Given the description of an element on the screen output the (x, y) to click on. 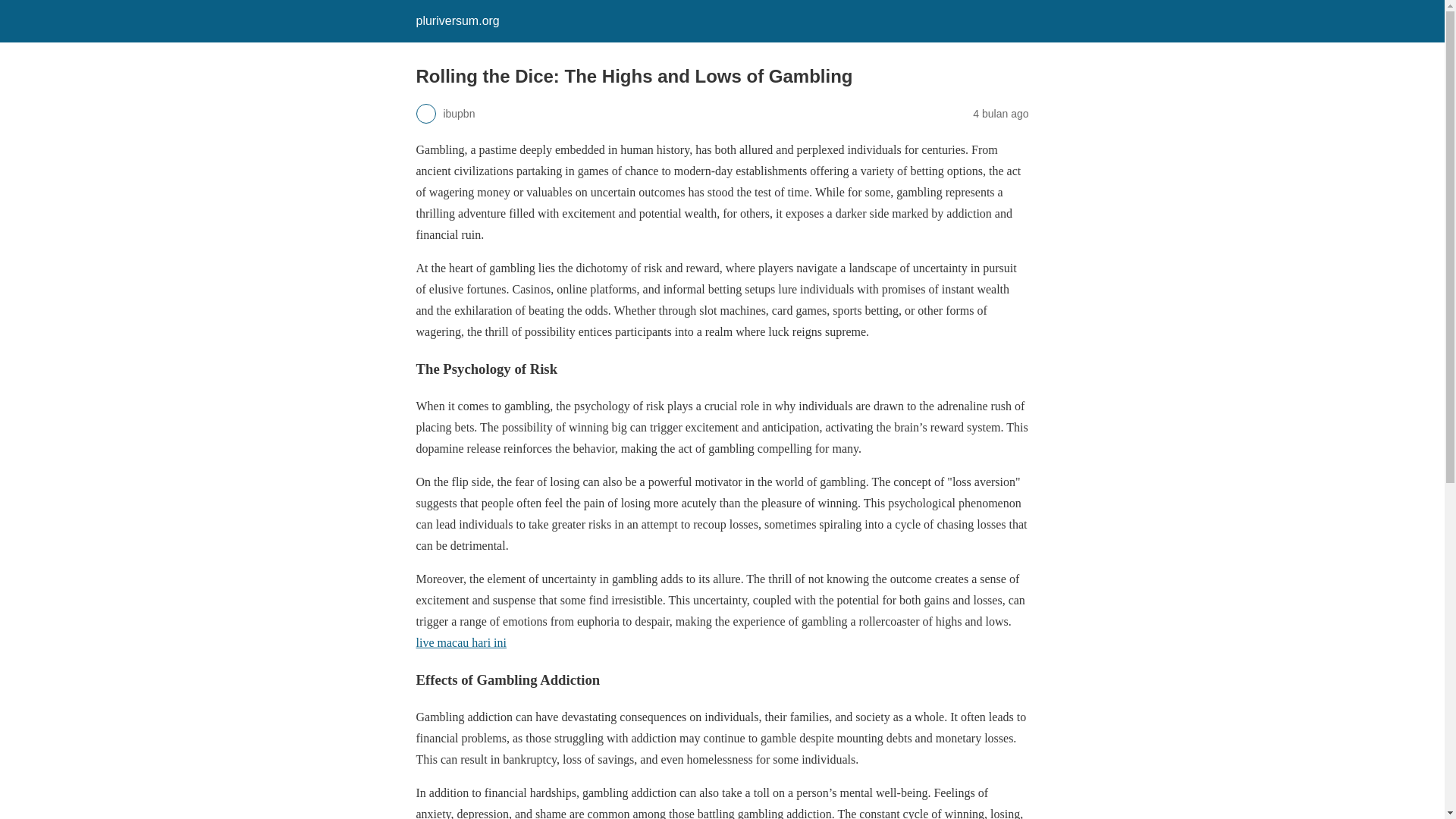
live macau hari ini (460, 642)
pluriversum.org (456, 20)
